Given the description of an element on the screen output the (x, y) to click on. 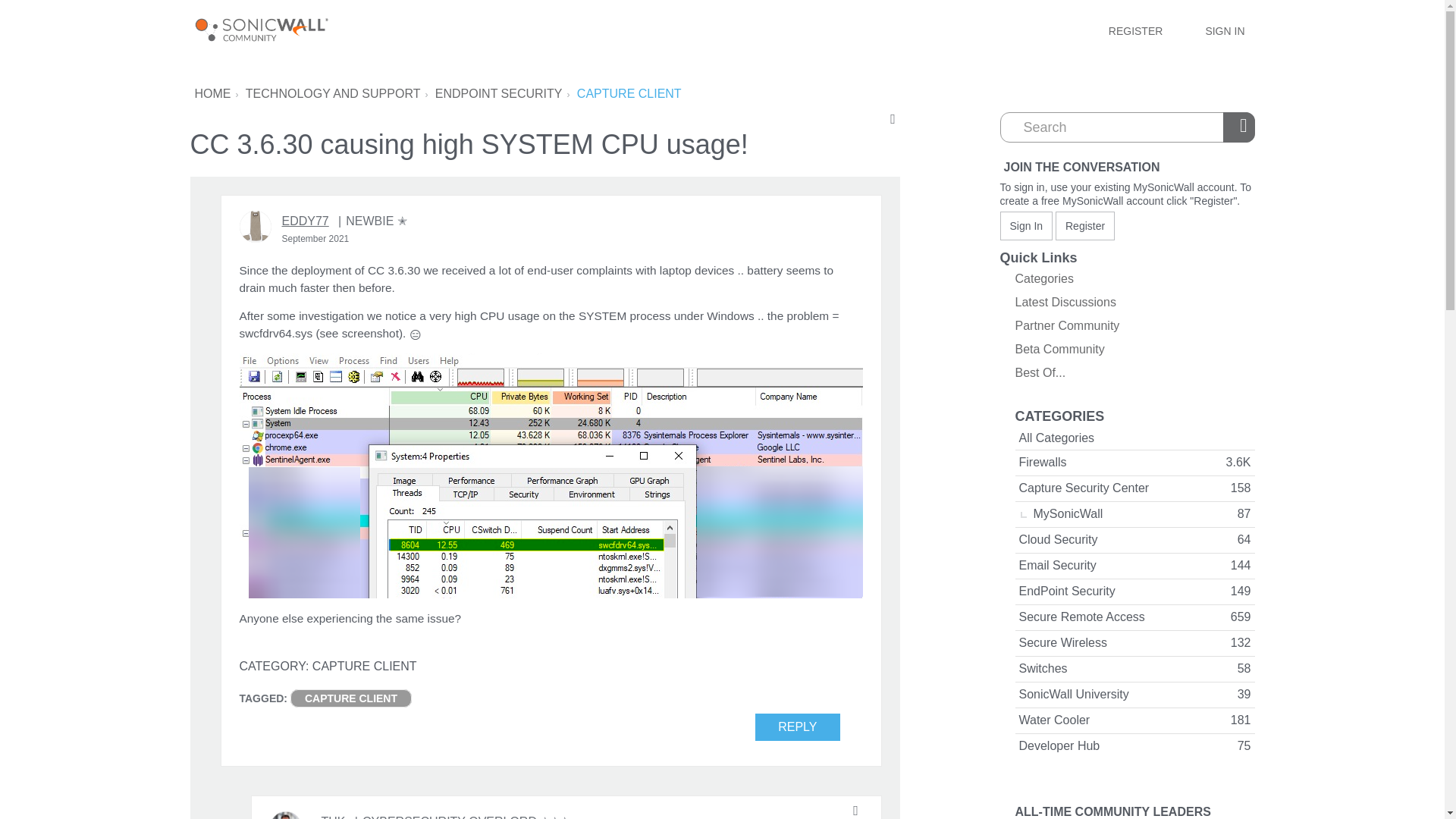
TECHNOLOGY AND SUPPORT (333, 92)
SIGN IN (1224, 30)
REPLY (797, 727)
Eddy77 (255, 226)
Newbie (372, 221)
HOME (211, 92)
September 15 2021 09:33am (315, 238)
Go (1240, 127)
EDDY77 (305, 221)
ThK (285, 815)
ENDPOINT SECURITY (498, 92)
CAPTURE CLIENT (628, 92)
Cyber Security Overlord (462, 816)
September 2021 (315, 238)
CAPTURE CLIENT (350, 698)
